Given the description of an element on the screen output the (x, y) to click on. 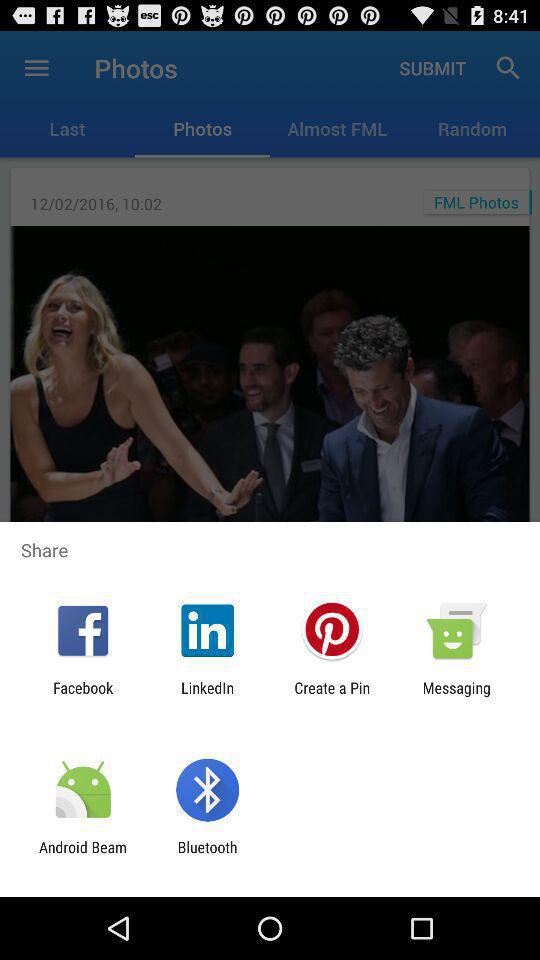
swipe to android beam item (83, 856)
